Given the description of an element on the screen output the (x, y) to click on. 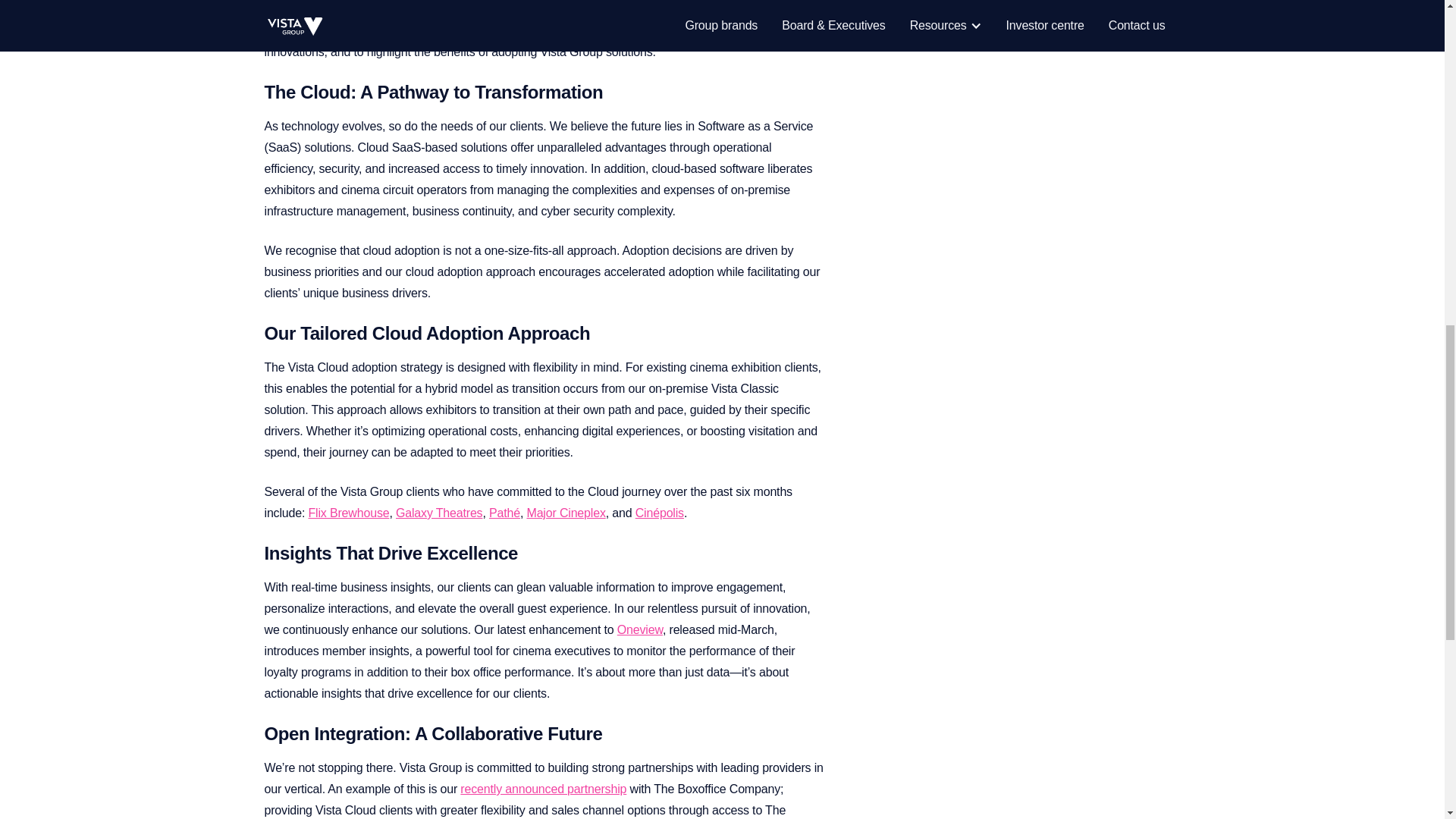
Oneview (639, 629)
recently announced partnership (543, 788)
Galaxy Theatres (438, 512)
Major Cineplex (565, 512)
Flix Brewhouse (349, 512)
